Given the description of an element on the screen output the (x, y) to click on. 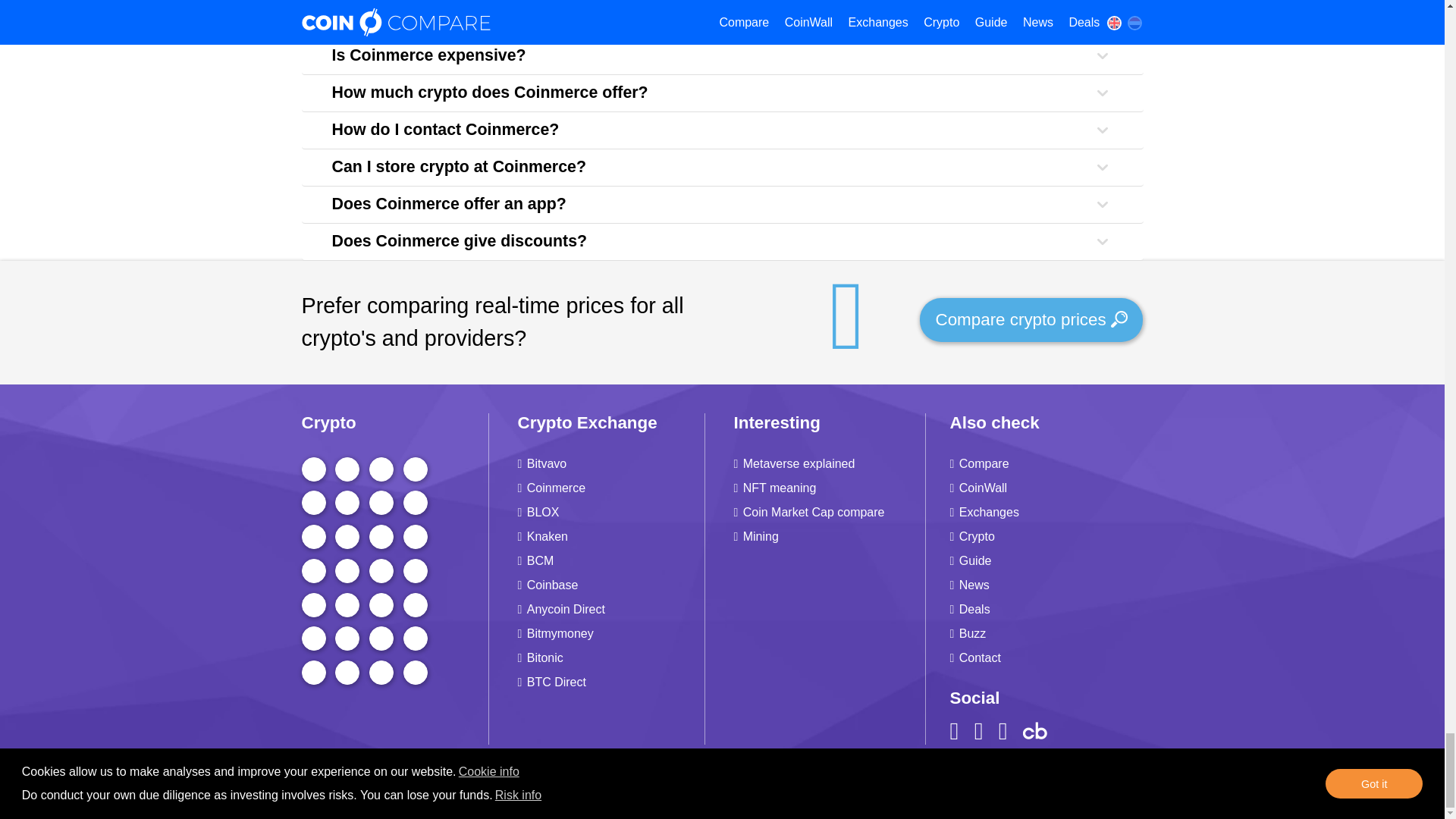
Litecoin (313, 536)
IOTA (381, 570)
Compound (381, 604)
TRON (346, 502)
Dash (415, 604)
Cardano (313, 502)
Ethereum Classic (381, 536)
NEO (313, 604)
Bitcoin Cash (415, 502)
Zcash (346, 604)
Ethereum (346, 469)
Monero (415, 536)
Bitcoin (313, 469)
VeChain (346, 570)
Shiba Inu (381, 502)
